Given the description of an element on the screen output the (x, y) to click on. 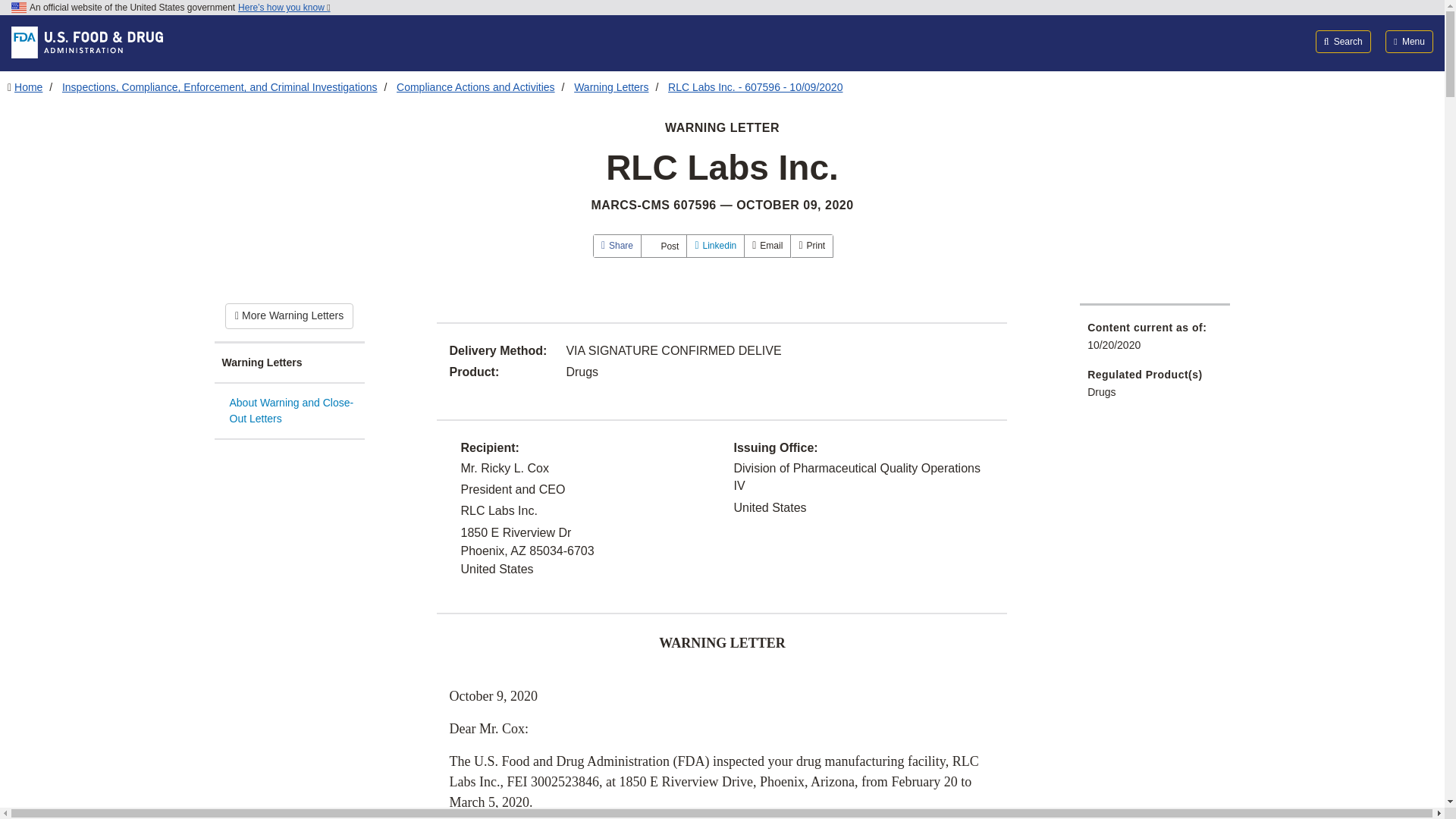
Warning Letters (289, 363)
  Search (1343, 41)
  Menu (1409, 41)
Print this page (811, 245)
